Given the description of an element on the screen output the (x, y) to click on. 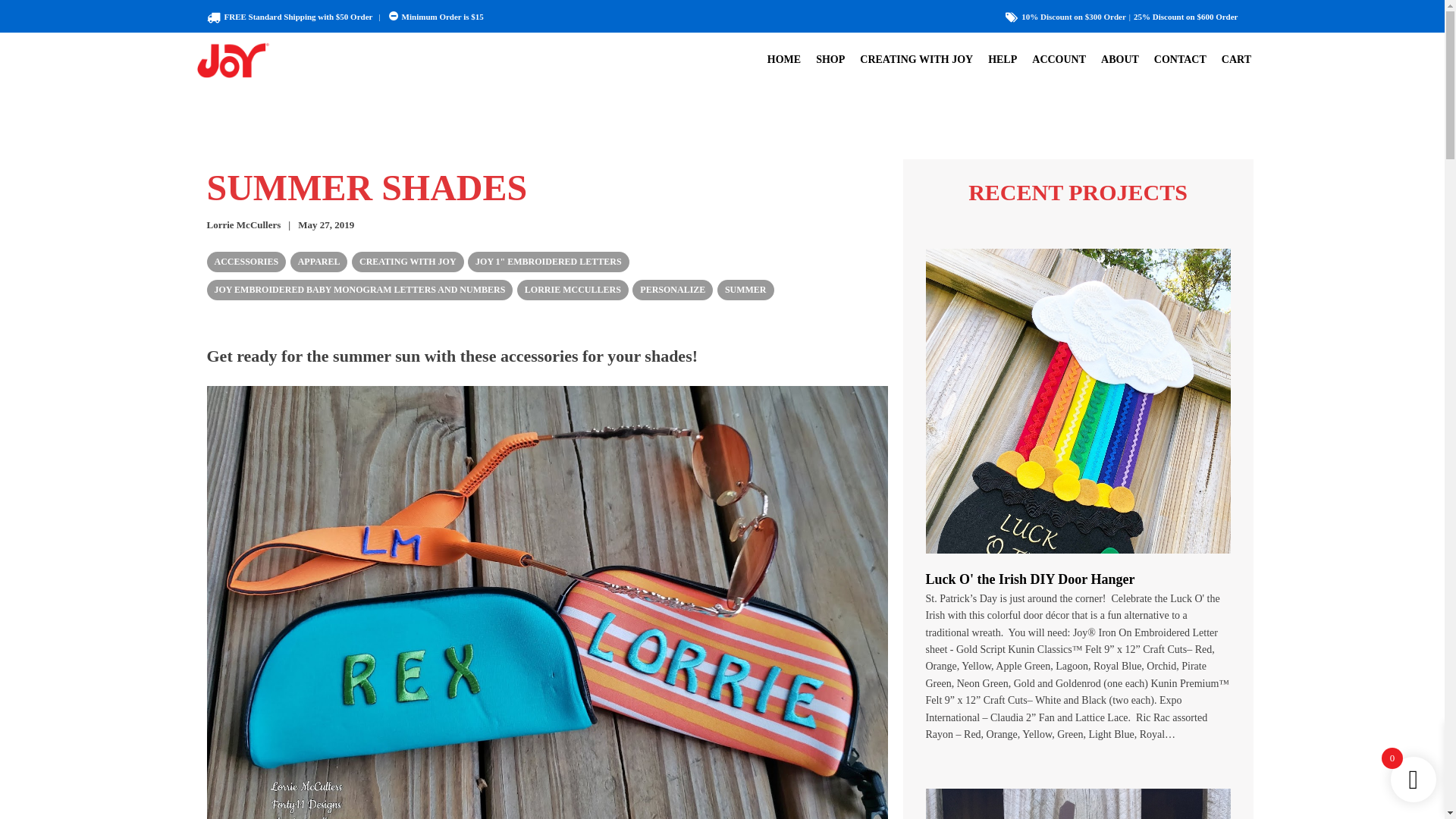
apparel Tag (318, 261)
LORRIE MCCULLERS (572, 290)
Accessories Tag (245, 261)
SUMMER (745, 290)
ACCOUNT (1059, 59)
Creating With Joy Tag (408, 261)
JOY 1" EMBROIDERED LETTERS (547, 261)
Joy Embroidered Baby Monogram Letters and Numbers Tag (359, 290)
ACCESSORIES (245, 261)
HELP (1002, 59)
